Given the description of an element on the screen output the (x, y) to click on. 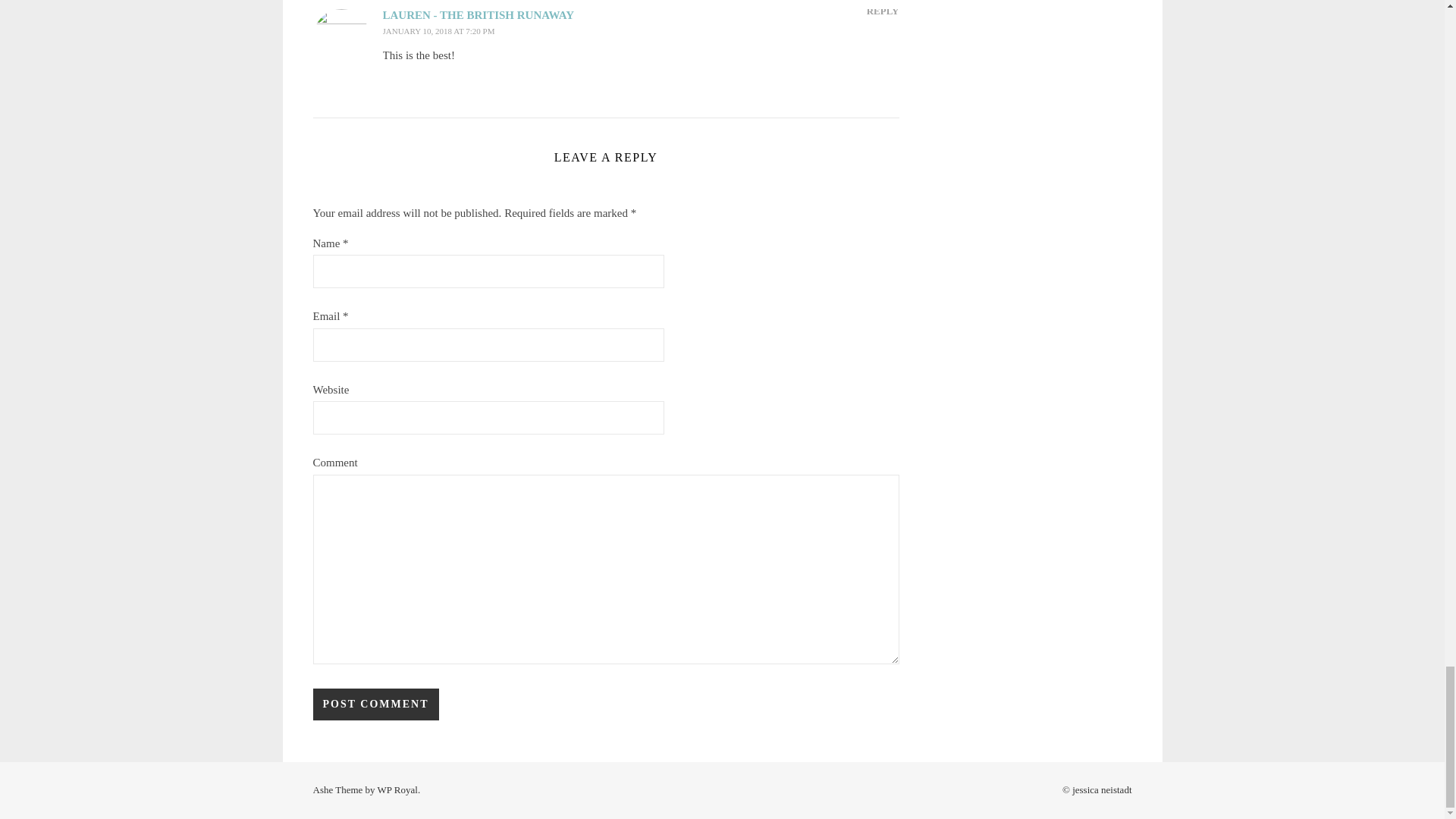
Post Comment (375, 704)
